Given the description of an element on the screen output the (x, y) to click on. 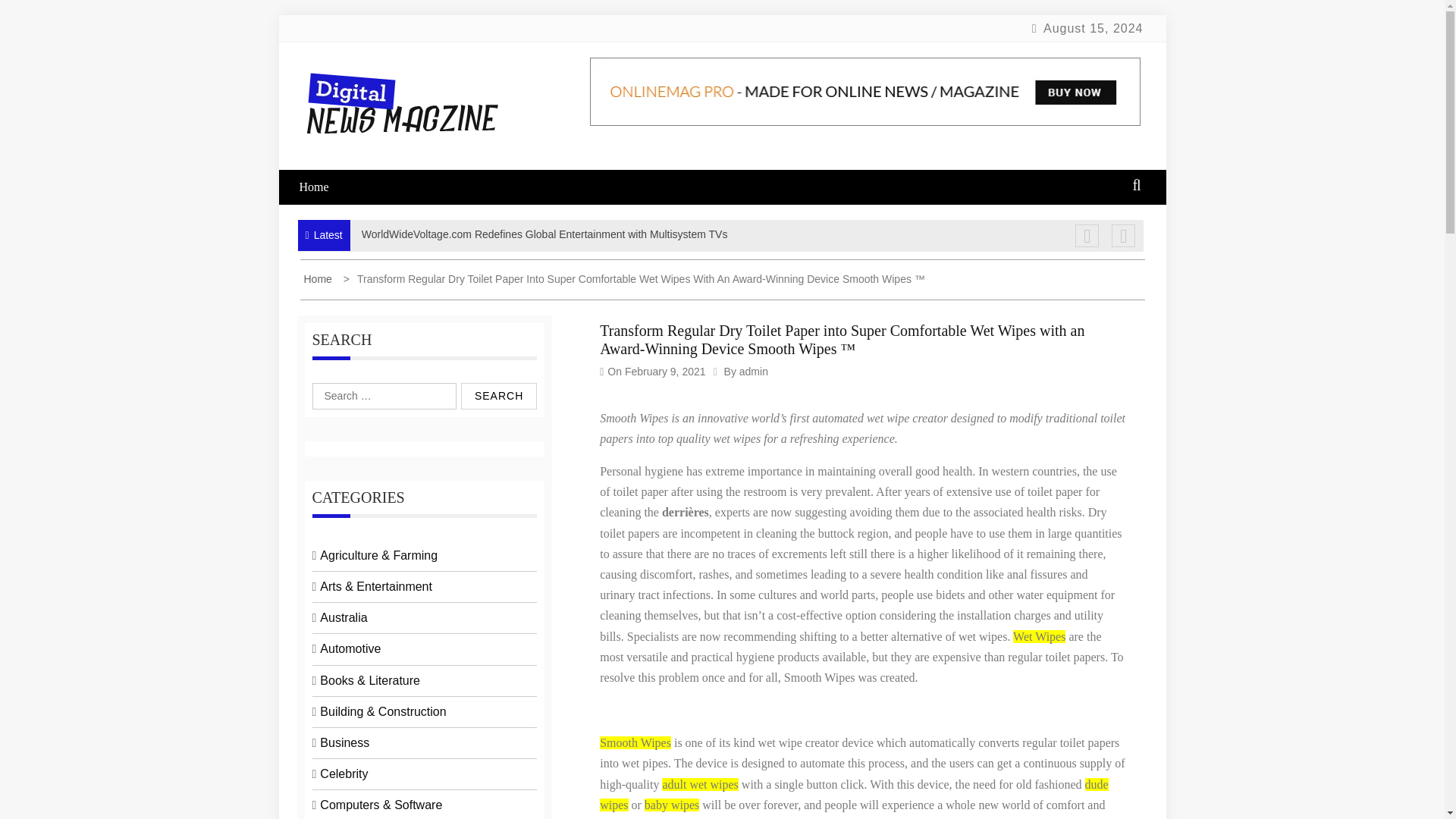
Home (318, 278)
Search (499, 396)
Home (323, 186)
Australia (343, 617)
February 9, 2021 (665, 371)
Search (499, 396)
Business (344, 742)
Search (499, 396)
admin (753, 371)
Digital News Magazine (394, 187)
